Given the description of an element on the screen output the (x, y) to click on. 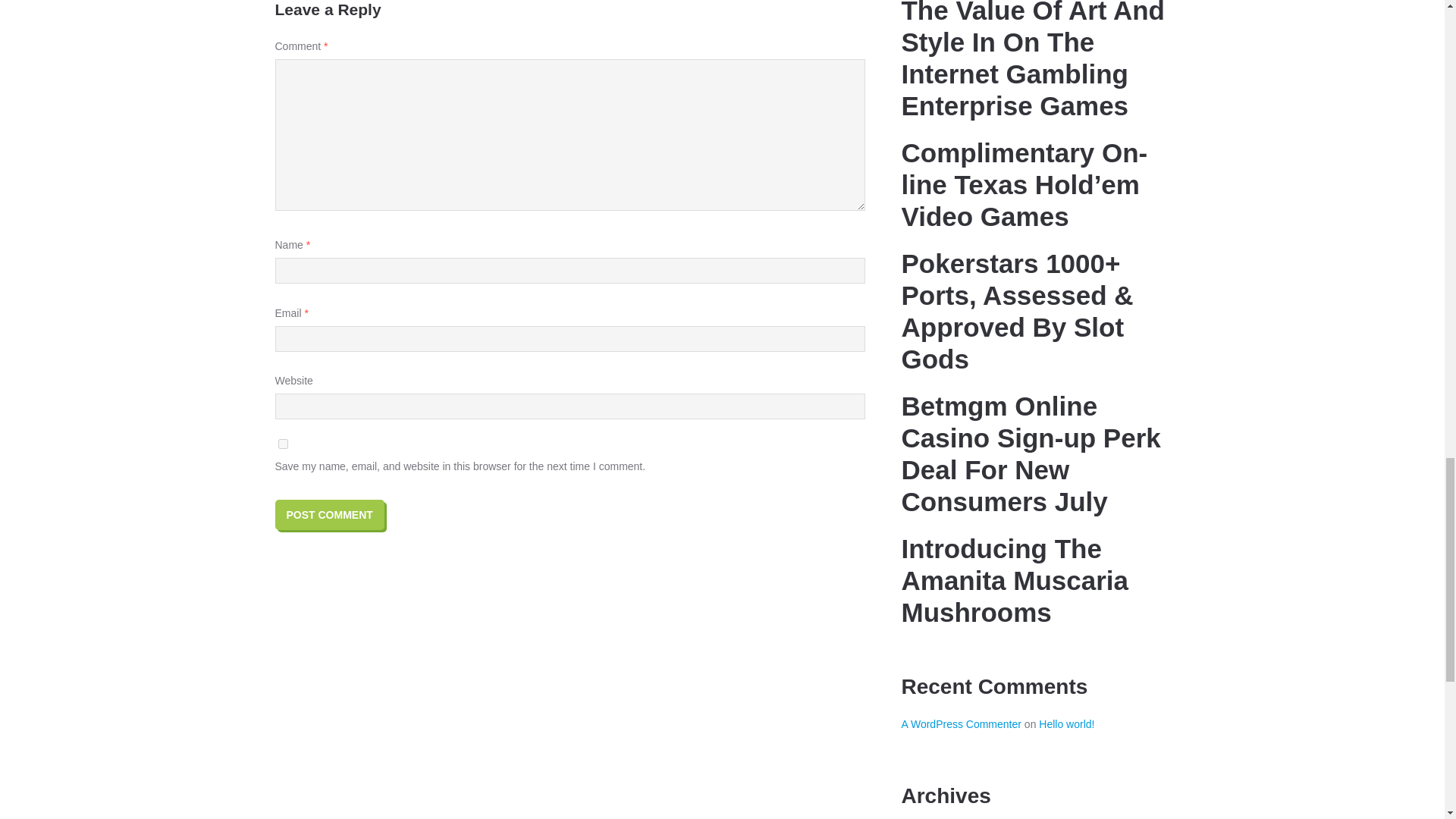
yes (282, 443)
Post Comment (329, 514)
Post Comment (329, 514)
